Given the description of an element on the screen output the (x, y) to click on. 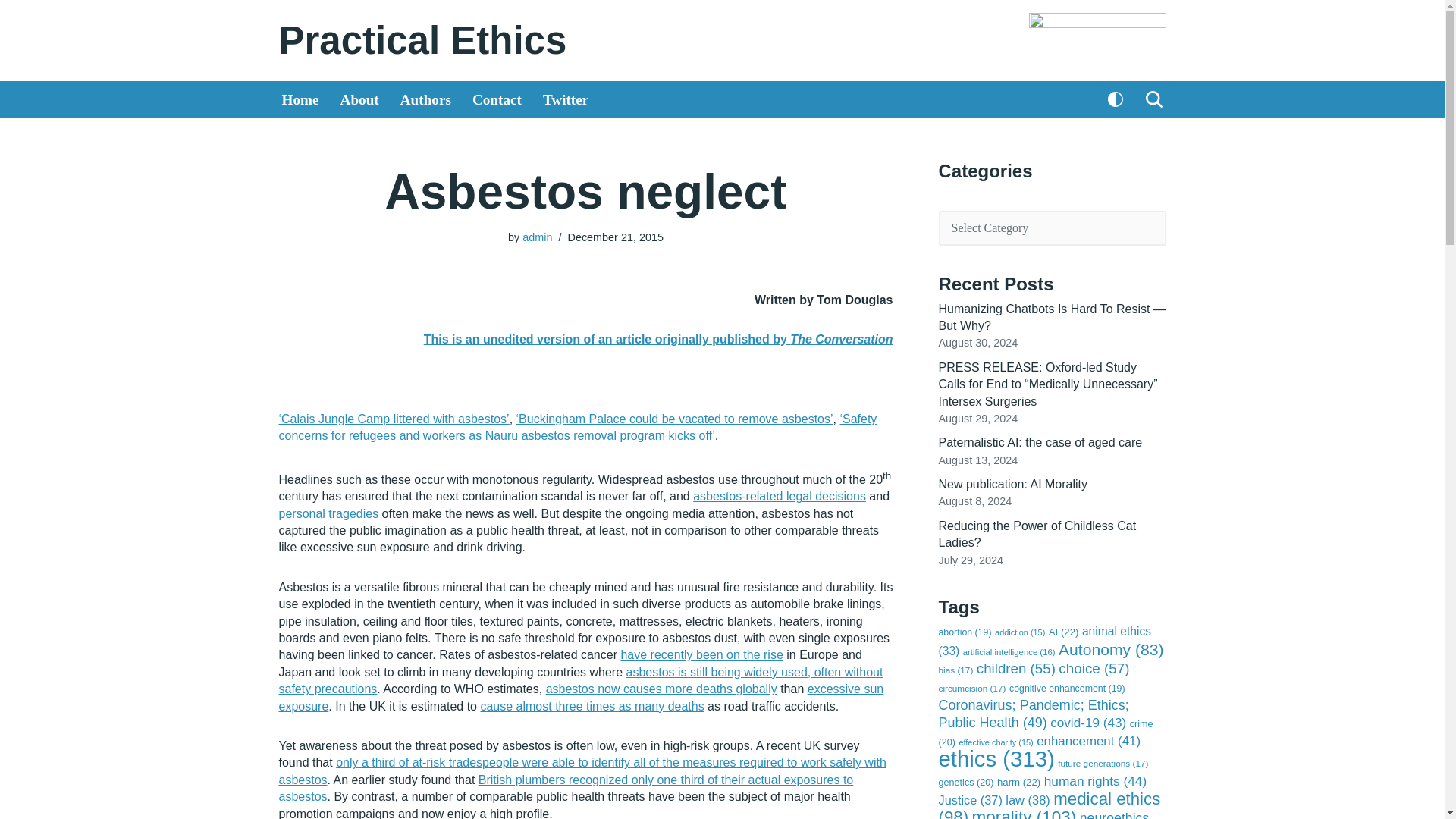
asbestos now causes more deaths globally (661, 688)
Skip to content (11, 31)
Practical Ethics (423, 40)
asbestos-related legal decisions (779, 495)
Contact (496, 99)
personal tragedies (328, 513)
Posts by admin (536, 236)
cause almost three times as many deaths (591, 706)
